Given the description of an element on the screen output the (x, y) to click on. 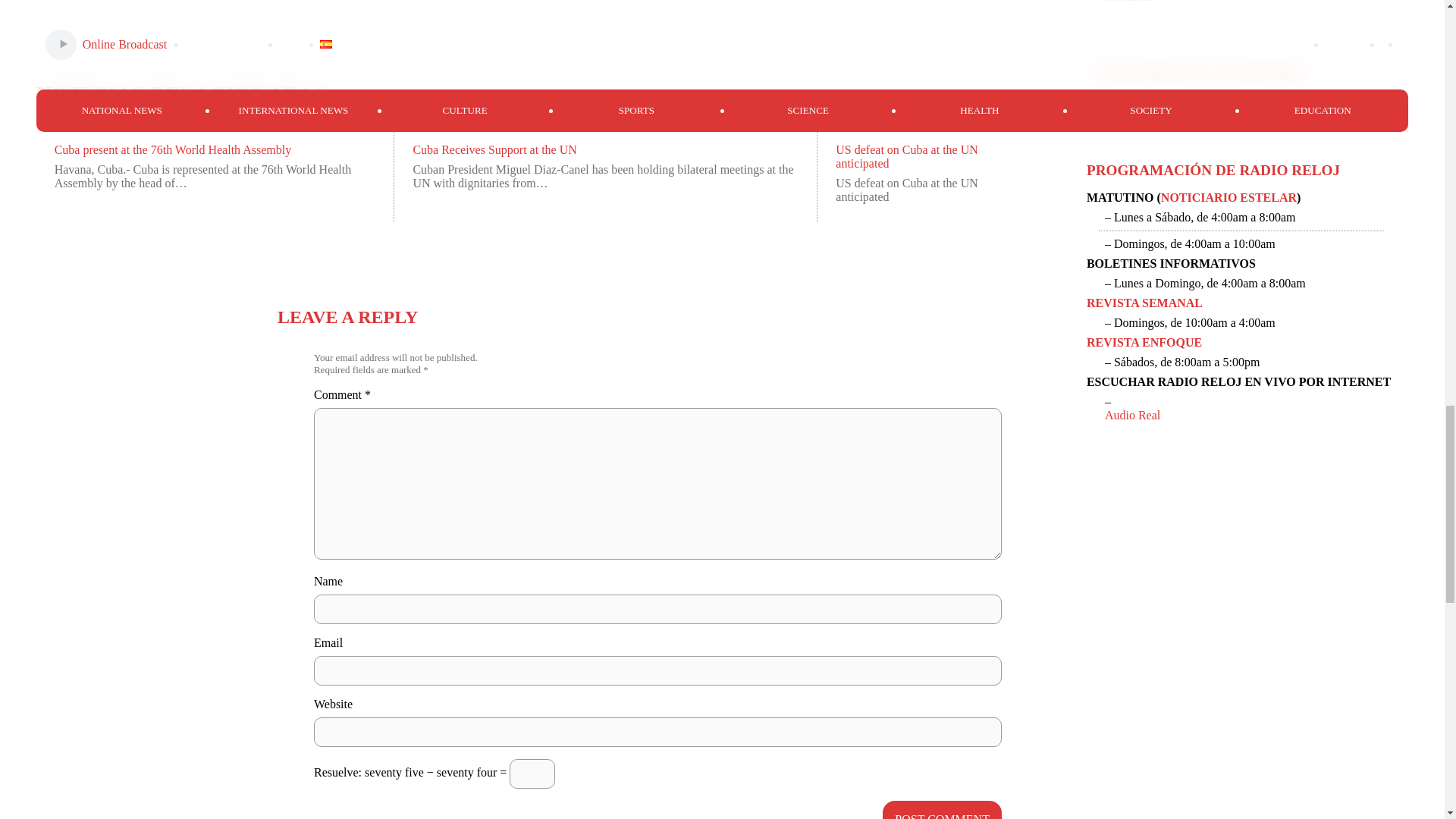
Post Comment (941, 809)
